Given the description of an element on the screen output the (x, y) to click on. 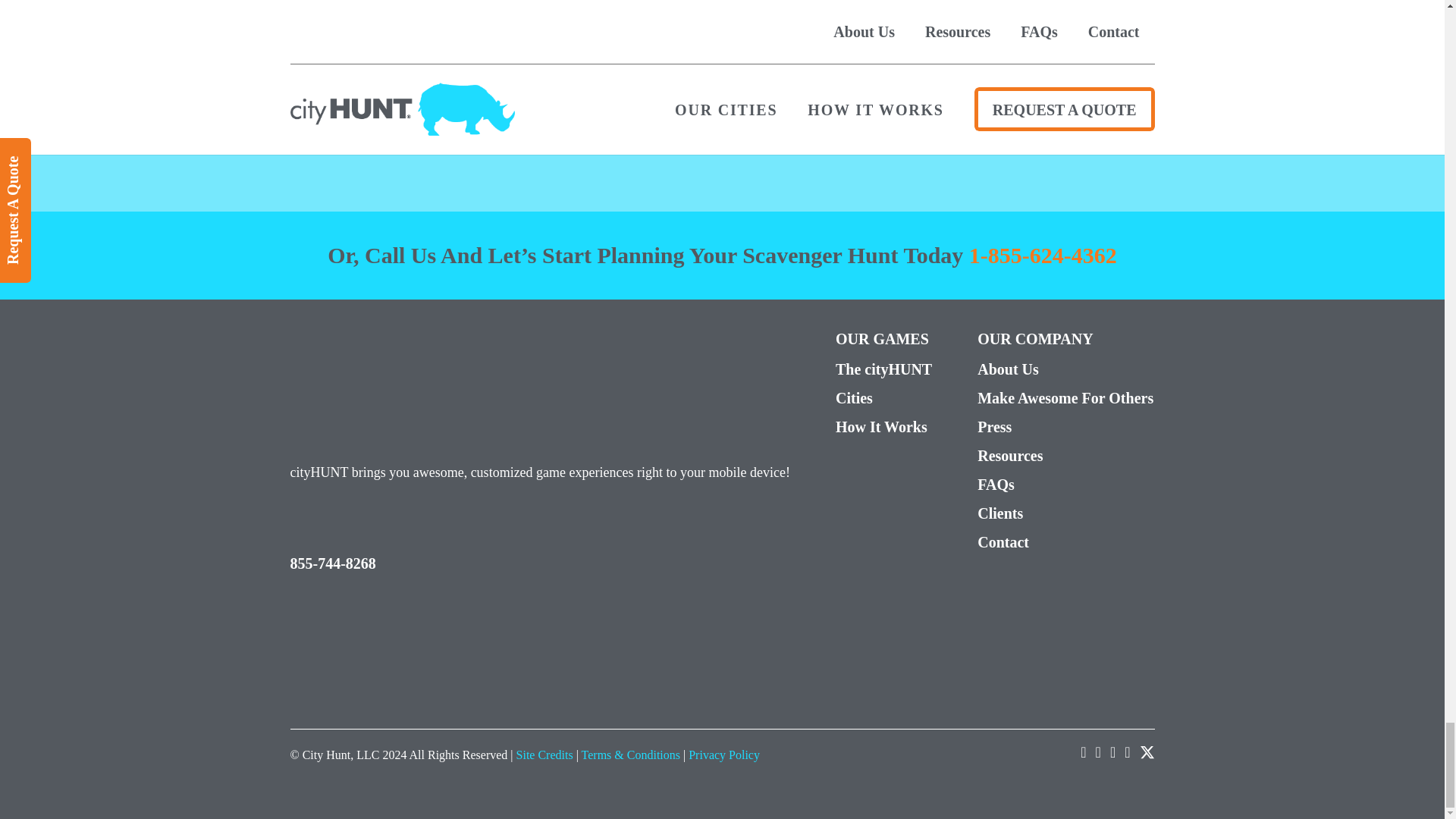
Press (1064, 426)
Twitter (1146, 752)
Make Awesome For Others (1064, 397)
Clients (1064, 513)
Cities (883, 397)
The cityHUNT (883, 369)
Let's Get Started (880, 84)
Resources (1064, 455)
Contact (1064, 541)
FAQs (1064, 484)
1-855-624-4362 (1042, 254)
About Us (1064, 369)
How It Works (883, 426)
Let's Get Started (880, 84)
